Given the description of an element on the screen output the (x, y) to click on. 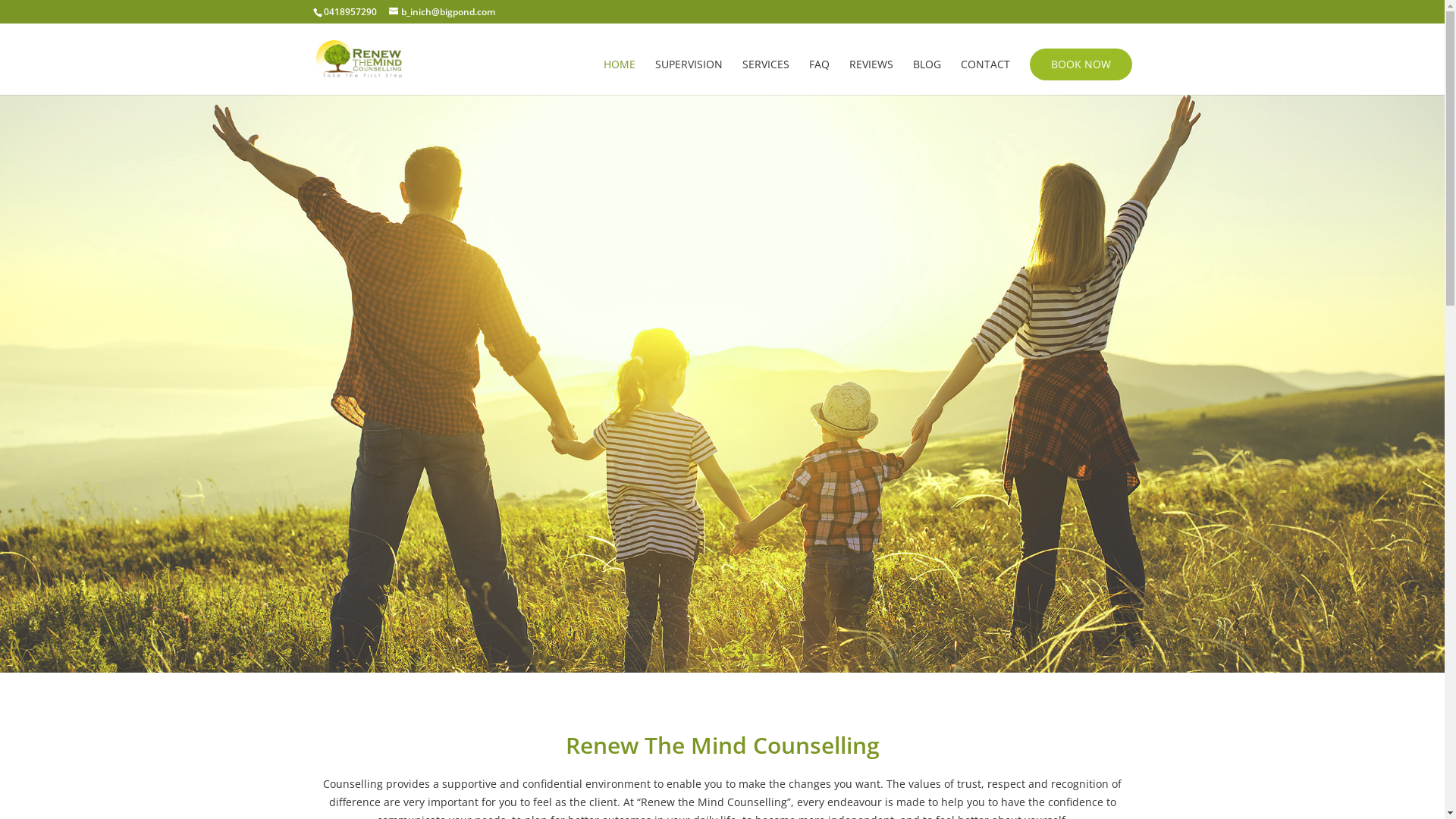
REVIEWS Element type: text (871, 76)
BLOG Element type: text (927, 76)
HOME Element type: text (619, 76)
SERVICES Element type: text (764, 76)
CONTACT Element type: text (984, 76)
FAQ Element type: text (818, 76)
SUPERVISION Element type: text (688, 76)
renew-the-mind-counselling Element type: hover (722, 383)
b_inich@bigpond.com Element type: text (441, 11)
BOOK NOW Element type: text (1080, 64)
